Given the description of an element on the screen output the (x, y) to click on. 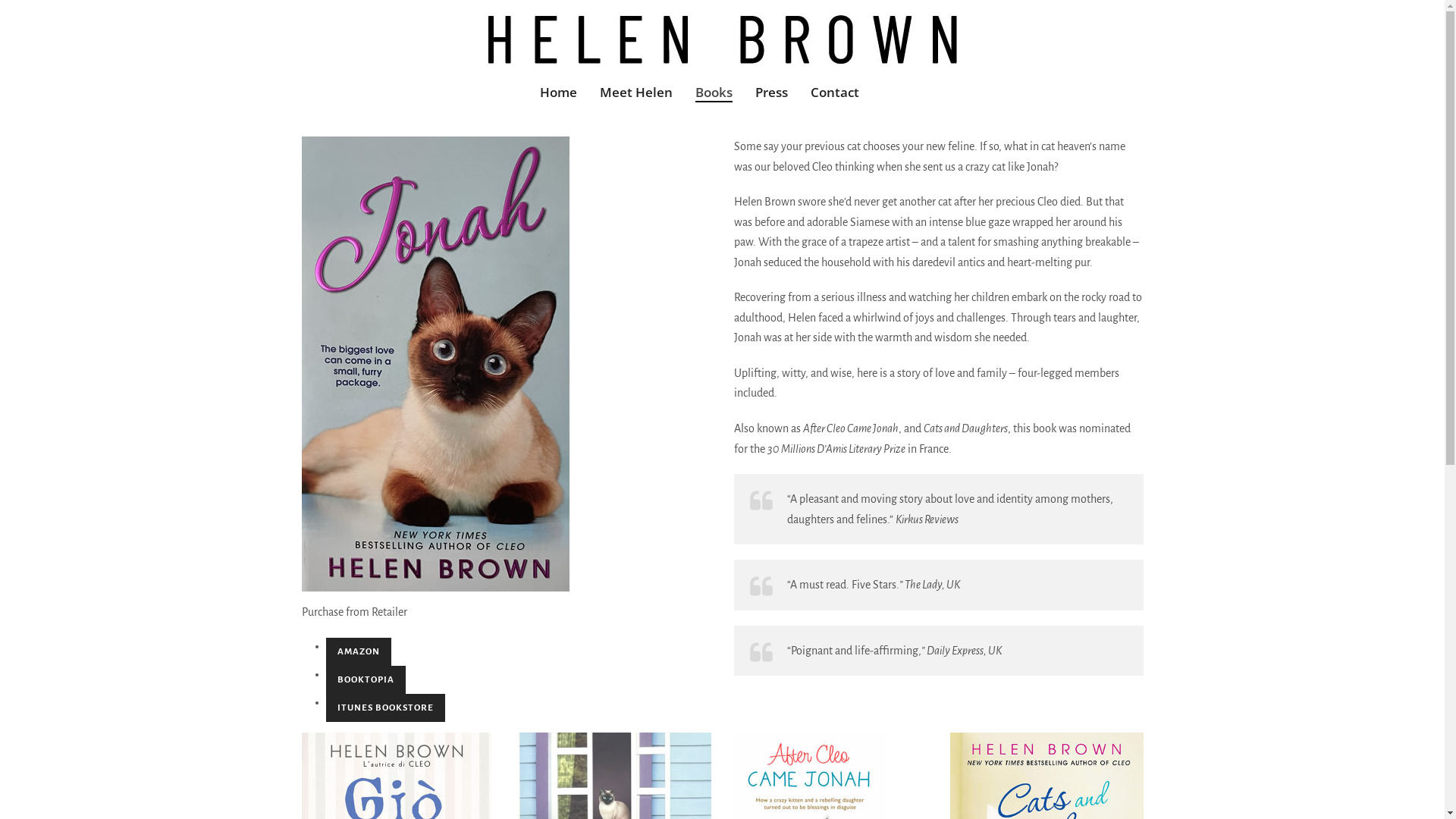
ITUNES BOOKSTORE Element type: text (385, 707)
Home Element type: text (558, 88)
BOOKTOPIA Element type: text (365, 679)
New York Times Bestselling Author Element type: hover (722, 39)
Meet Helen Element type: text (636, 88)
Contact Element type: text (834, 88)
Press Element type: text (771, 88)
AMAZON Element type: text (358, 651)
Books Element type: text (713, 88)
